Given the description of an element on the screen output the (x, y) to click on. 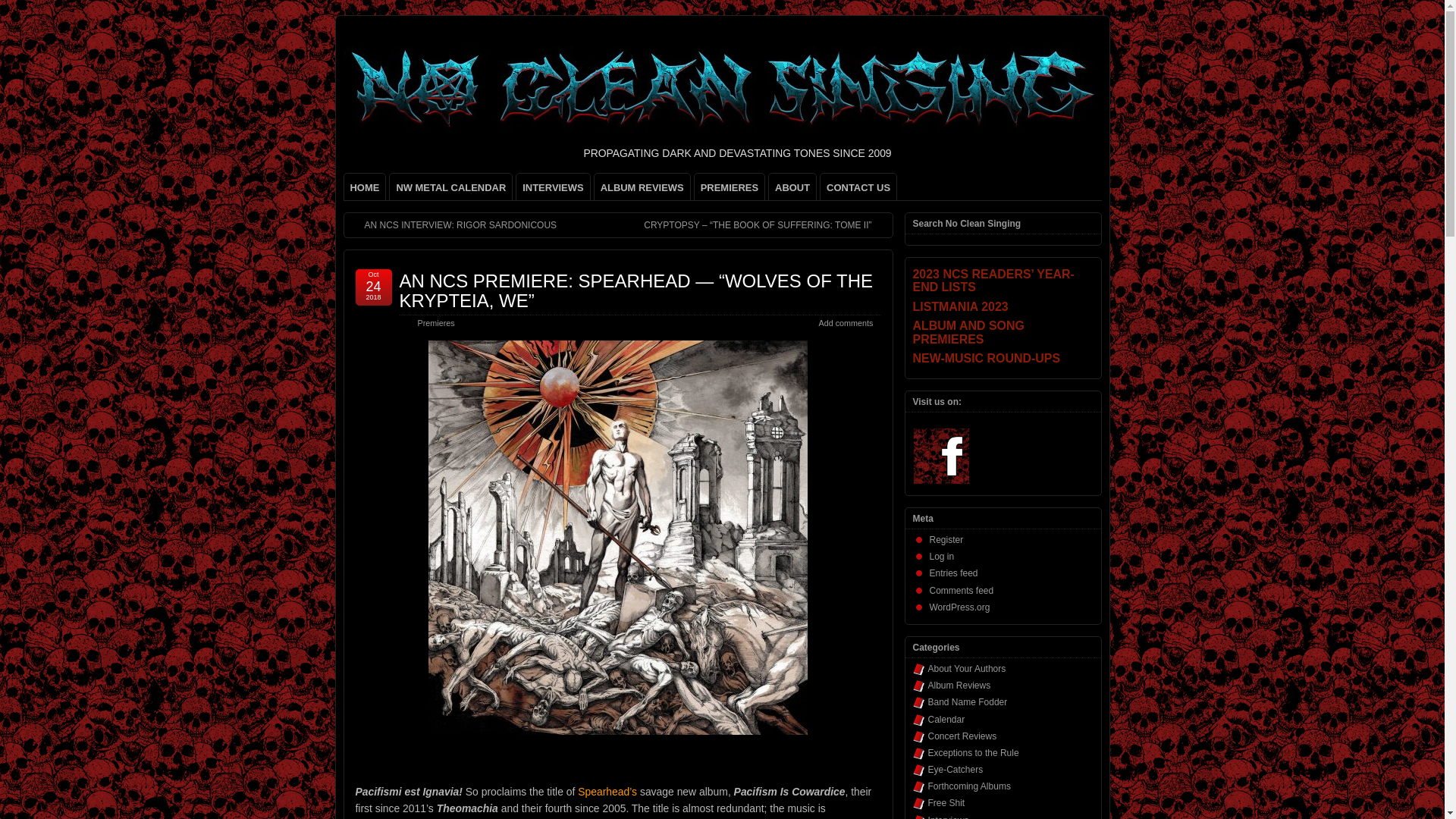
NW METAL CALENDAR (451, 186)
INTERVIEWS (552, 186)
ABOUT (791, 186)
Add comments (845, 322)
Premieres (435, 322)
ABOUT (791, 186)
Register (946, 539)
Log in (942, 556)
Entries feed (954, 573)
HOME (364, 186)
NEW-MUSIC ROUND-UPS (1002, 358)
PREMIERES (729, 186)
INTERVIEWS (552, 186)
CONTACT US (858, 186)
CONTACT US (858, 186)
